Given the description of an element on the screen output the (x, y) to click on. 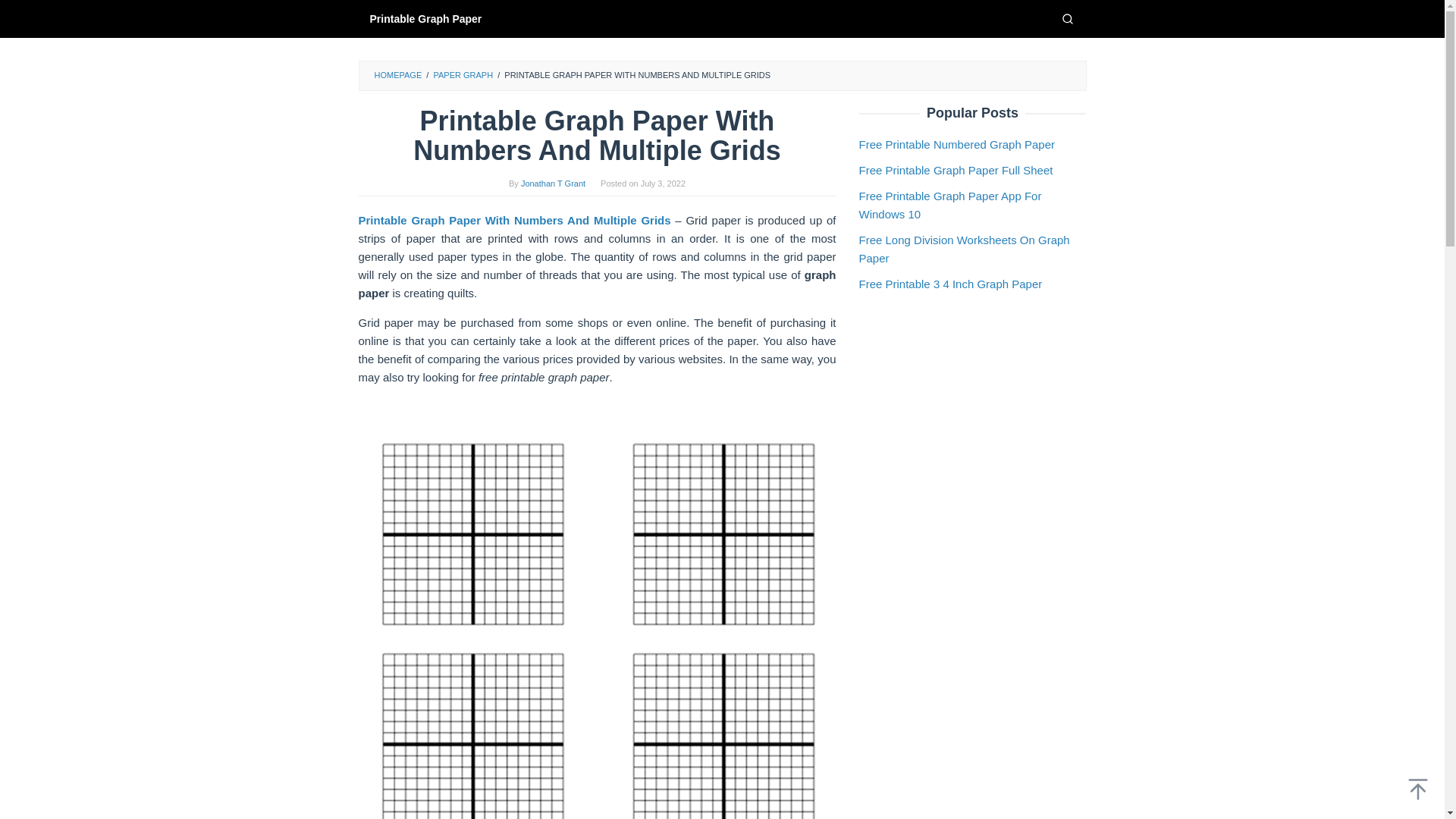
Free Printable 3 4 Inch Graph Paper (950, 283)
PAPER GRAPH (462, 74)
Search (1067, 18)
HOMEPAGE (398, 74)
Free Printable Graph Paper App For Windows 10 (950, 204)
Free Printable Numbered Graph Paper (956, 144)
Jonathan T Grant (553, 183)
Printable Graph Paper (425, 18)
Permalink to: Jonathan T Grant (553, 183)
Free Long Division Worksheets On Graph Paper (963, 248)
Printable Graph Paper With Numbers And Multiple Grids (513, 219)
Free Printable Graph Paper Full Sheet (955, 169)
